Given the description of an element on the screen output the (x, y) to click on. 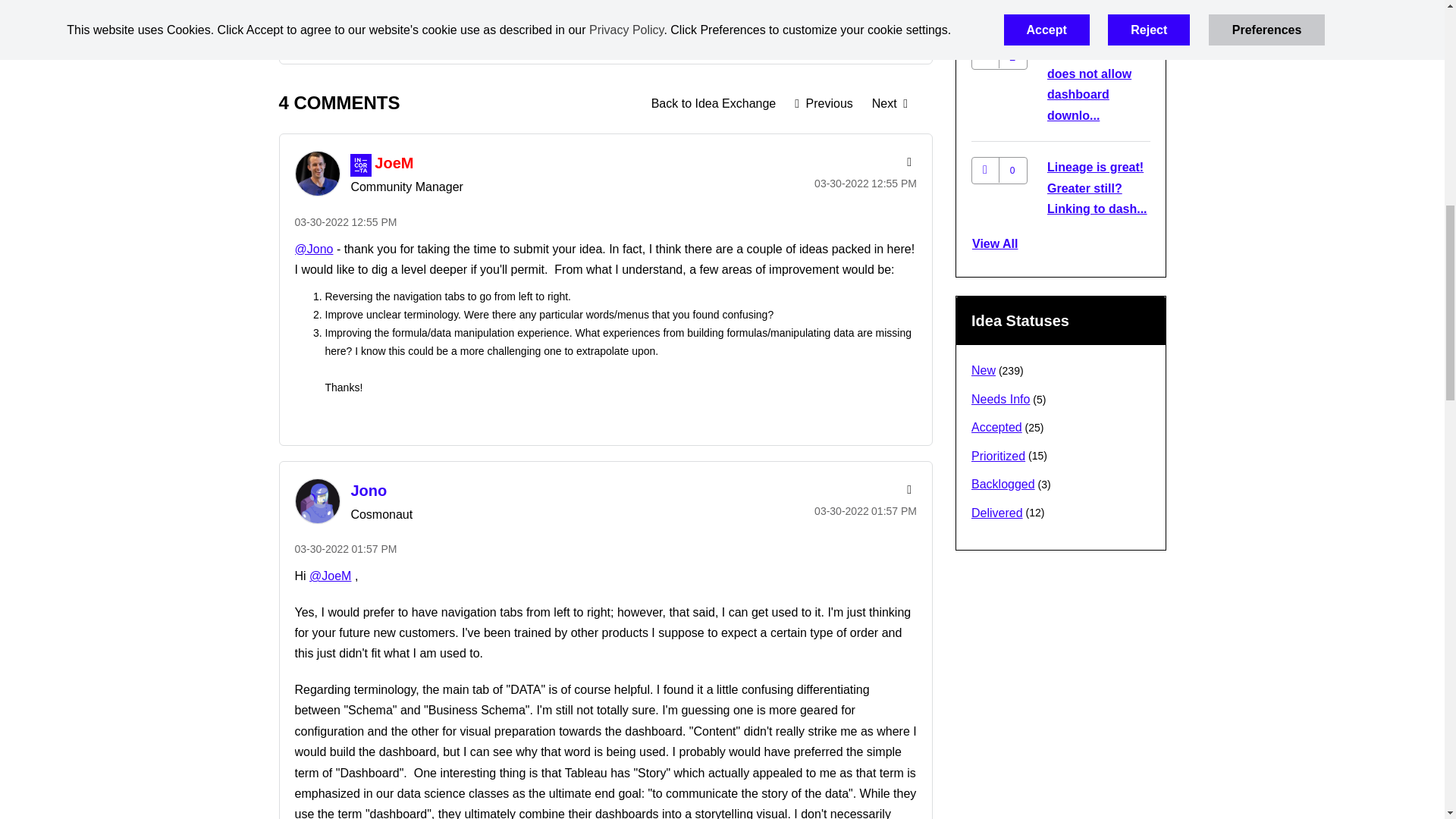
Measure-based Calculations in Aggregated Table (889, 103)
The total number of kudos this post has received. (335, 39)
Click here to give kudos to this post. (307, 40)
Product Ideas (714, 103)
Don't attempt to shorten values in the upper hundreds (823, 103)
